Given the description of an element on the screen output the (x, y) to click on. 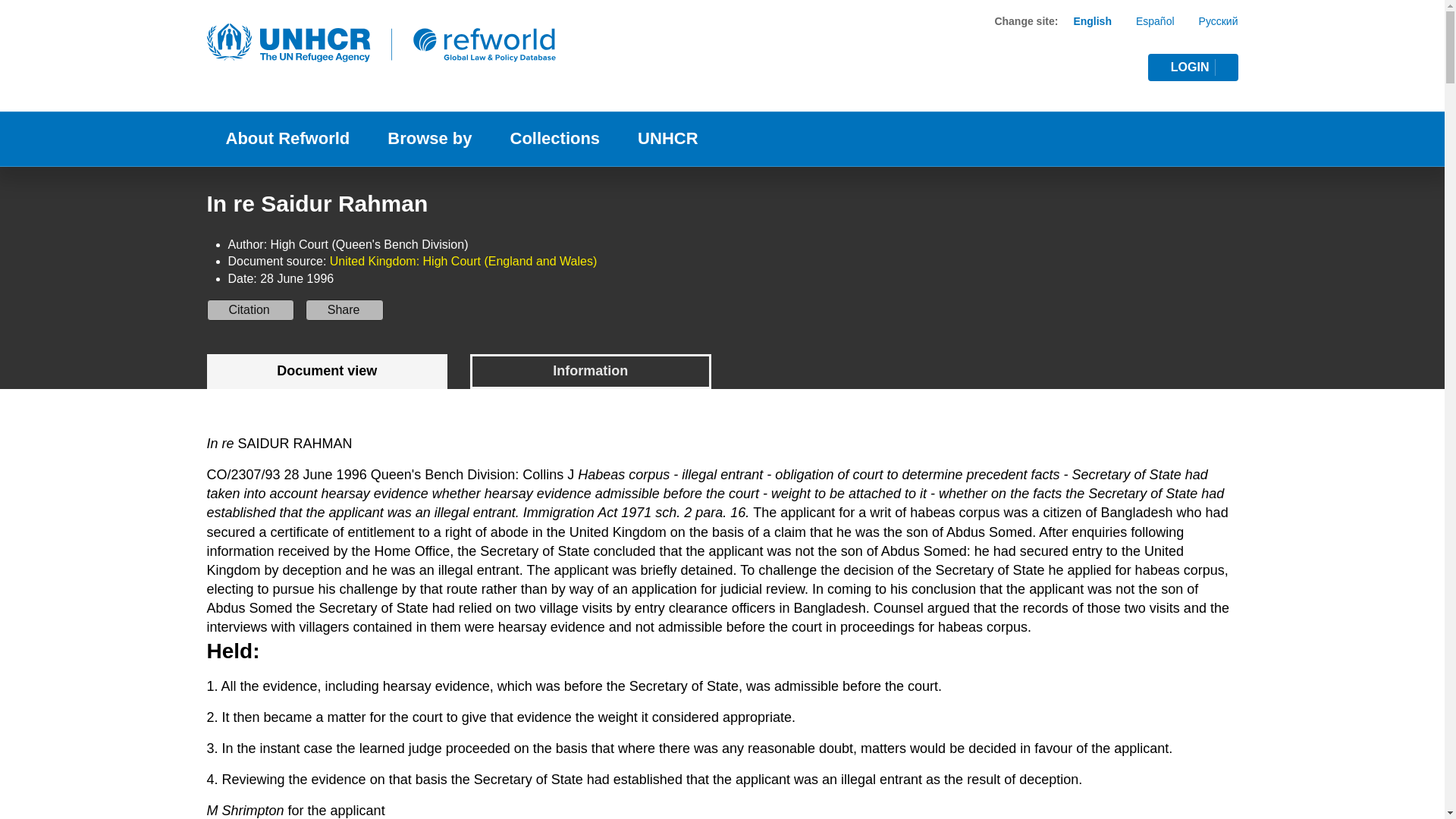
Share (344, 310)
Skip to main content (722, 371)
Search (721, 1)
Apply (1112, 65)
English (1104, 91)
LOGIN (1092, 21)
Citation (1193, 67)
Home (250, 310)
